Given the description of an element on the screen output the (x, y) to click on. 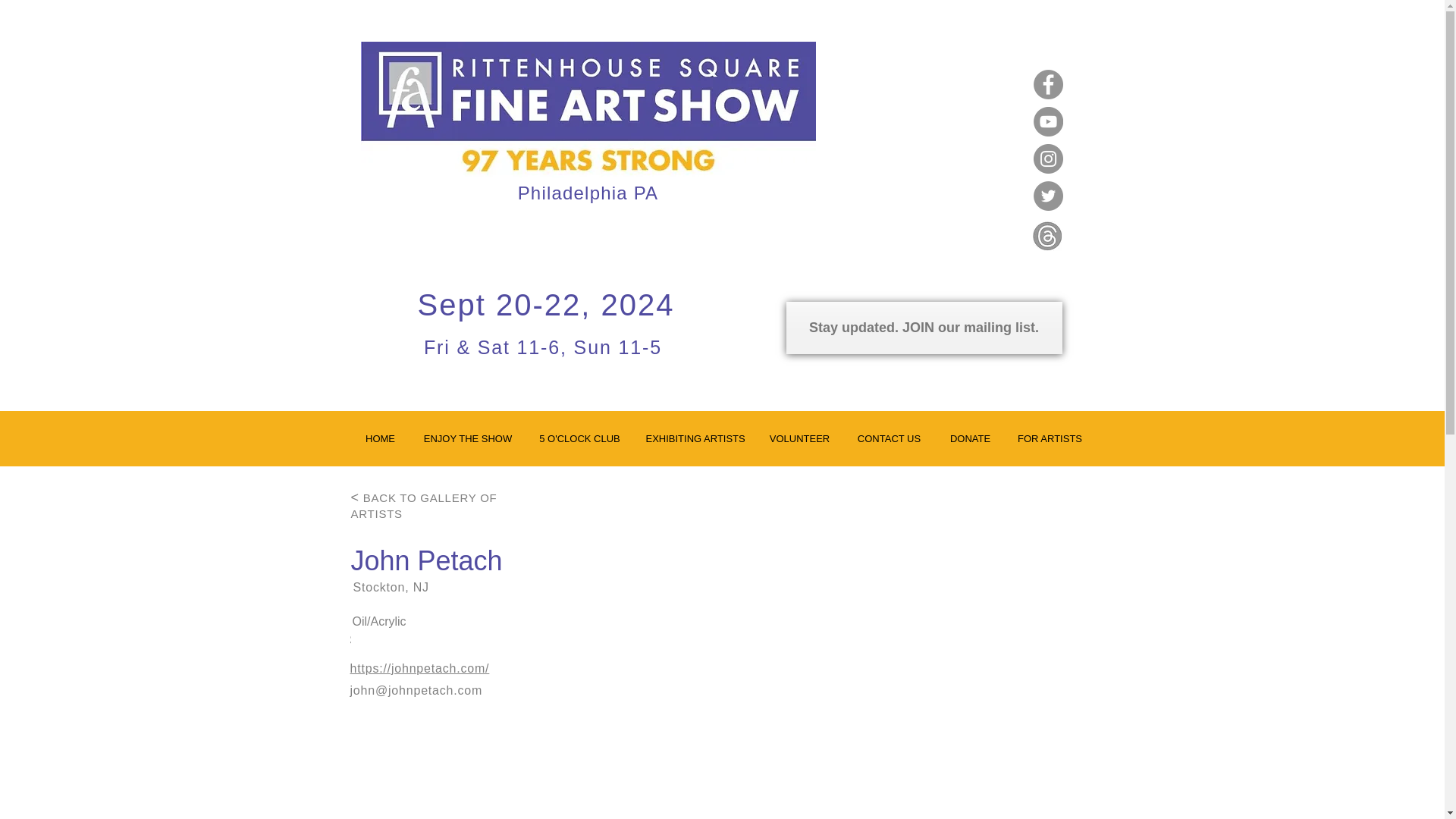
Stay updated. JOIN our mailing list. (923, 327)
HOME (380, 438)
June 2024 STUDENT Application (956, 368)
5 O'CLOCK CLUB (578, 438)
DONATE (970, 438)
 GALLERY OF ARTISTS (423, 504)
VOLUNTEER (799, 438)
